Given the description of an element on the screen output the (x, y) to click on. 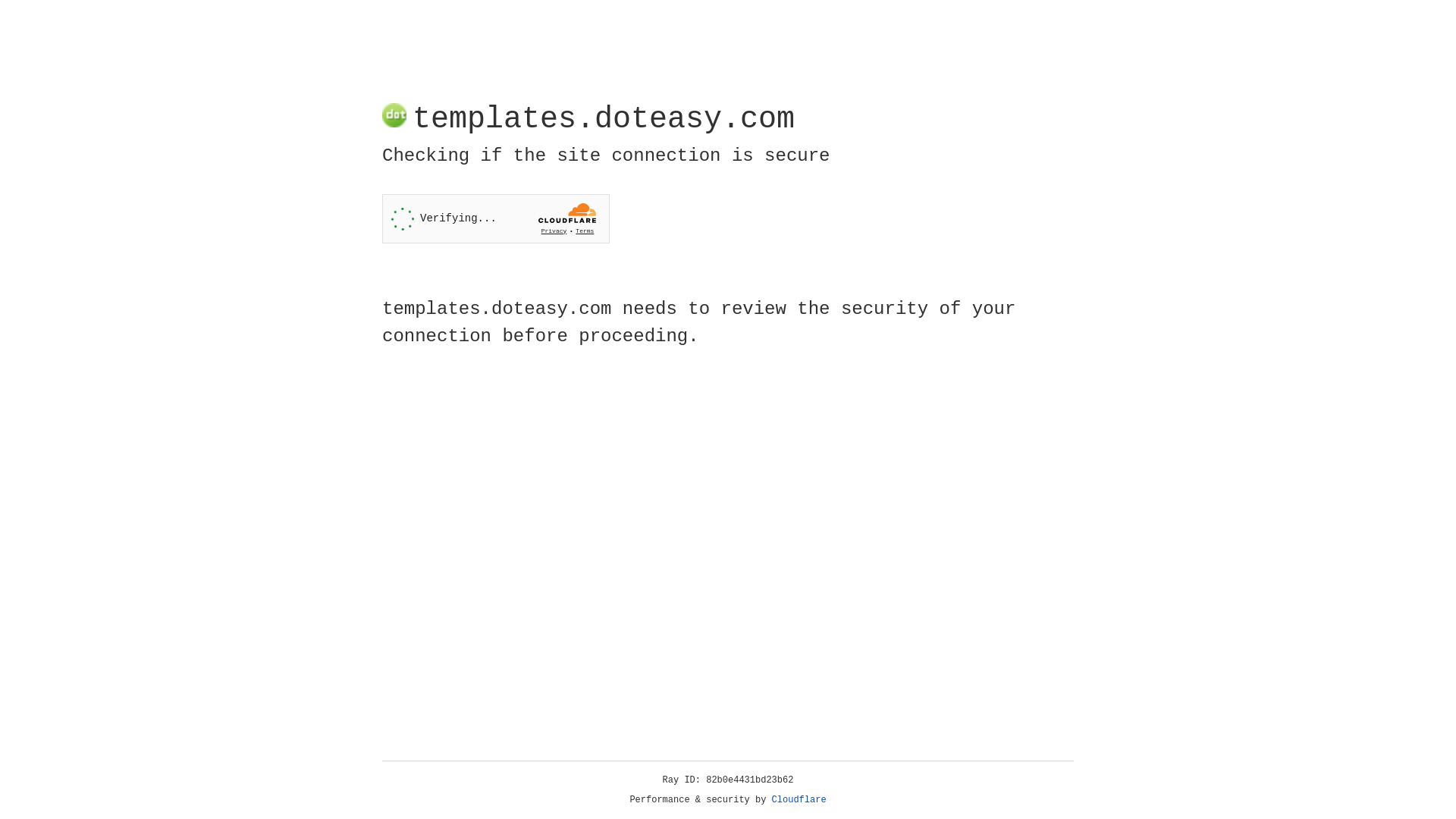
Widget containing a Cloudflare security challenge Element type: hover (495, 218)
Cloudflare Element type: text (798, 799)
